Given the description of an element on the screen output the (x, y) to click on. 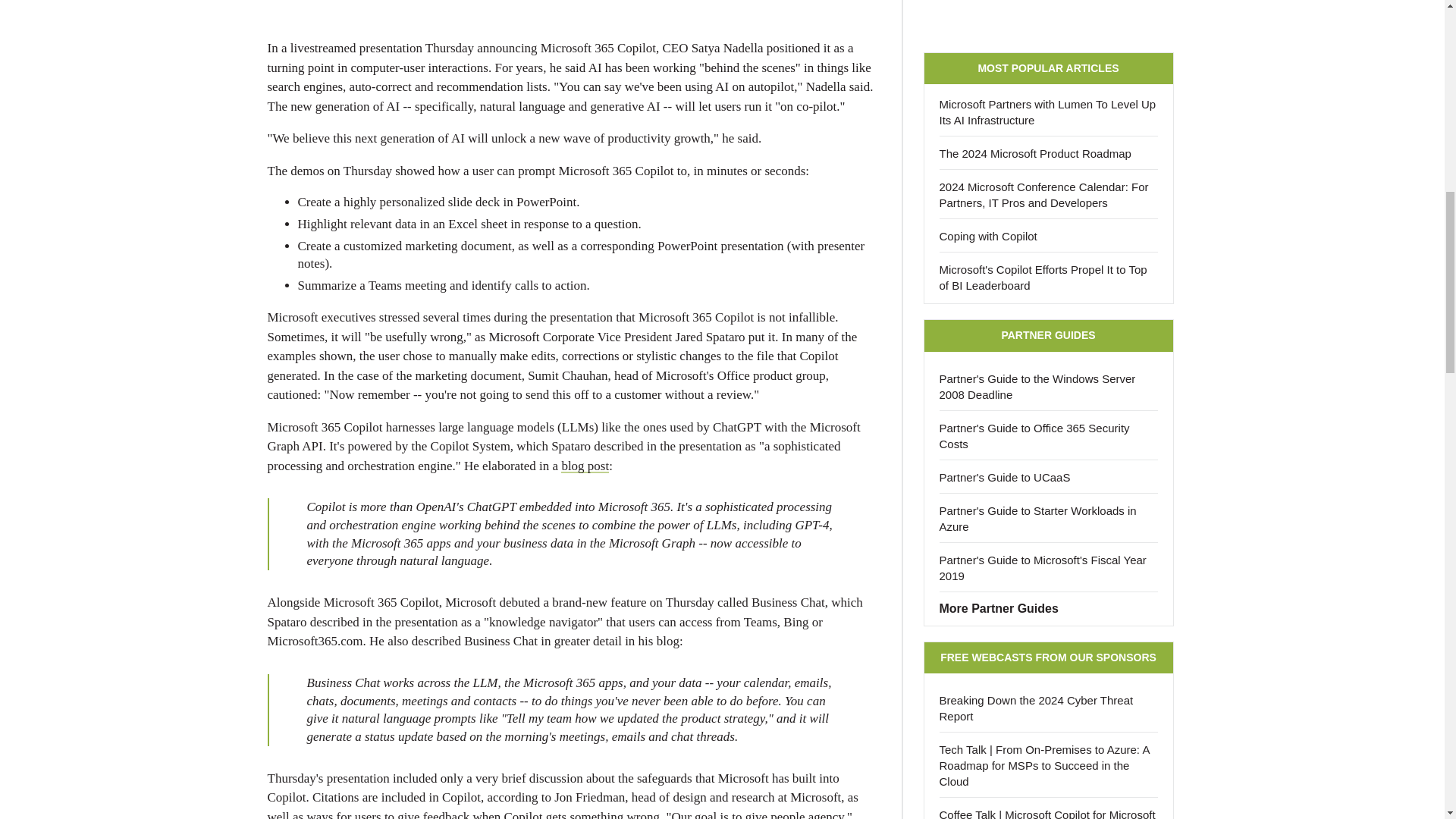
3rd party ad content (1047, 18)
